Given the description of an element on the screen output the (x, y) to click on. 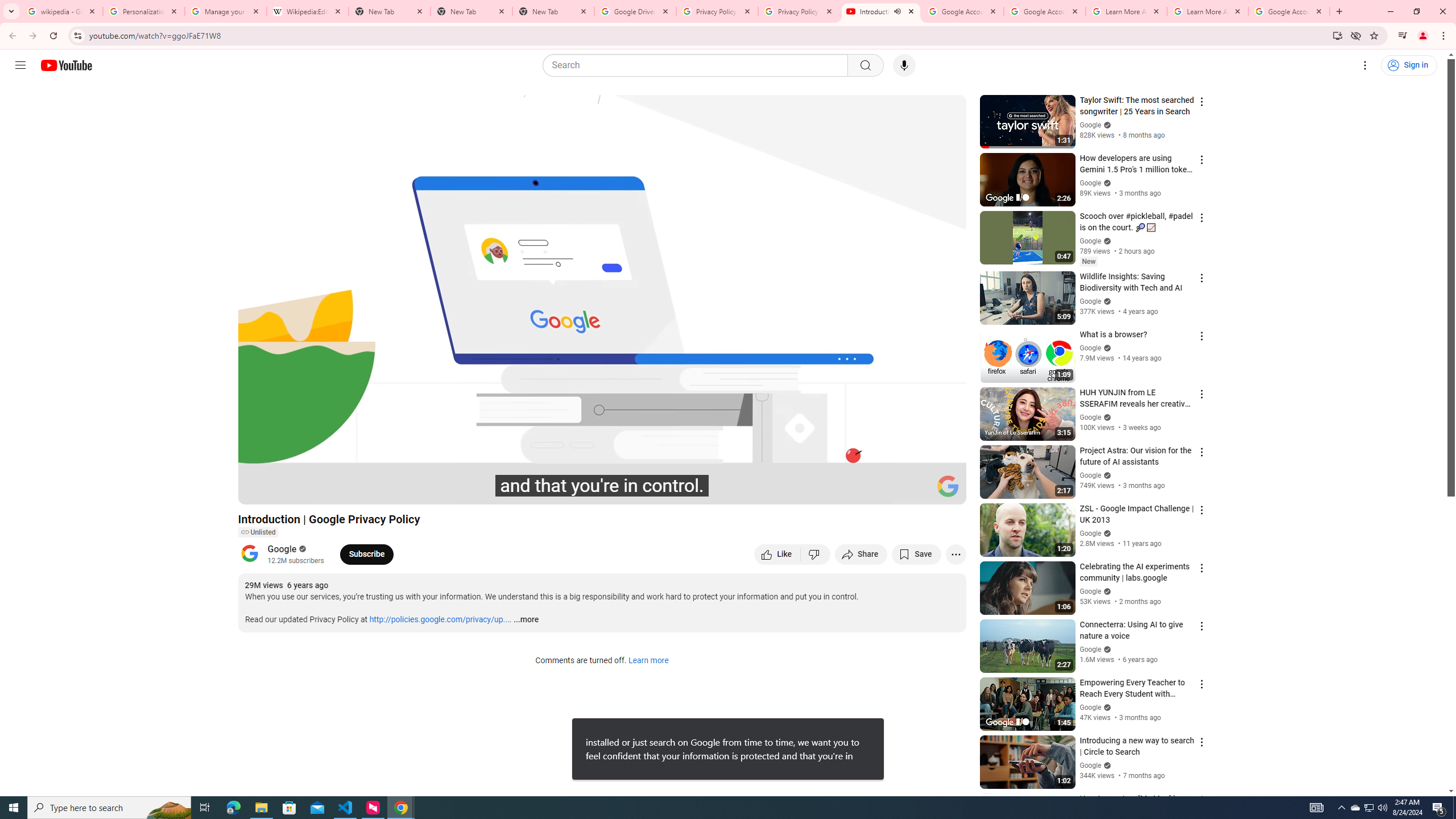
Manage your Location History - Google Search Help (225, 11)
Miniplayer (i) (890, 490)
